Given the description of an element on the screen output the (x, y) to click on. 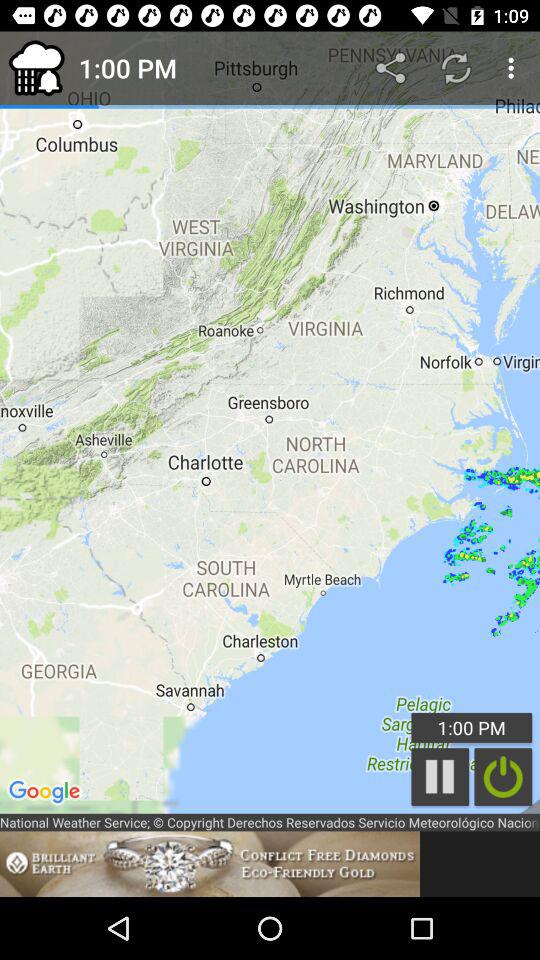
click pause button (440, 776)
